Given the description of an element on the screen output the (x, y) to click on. 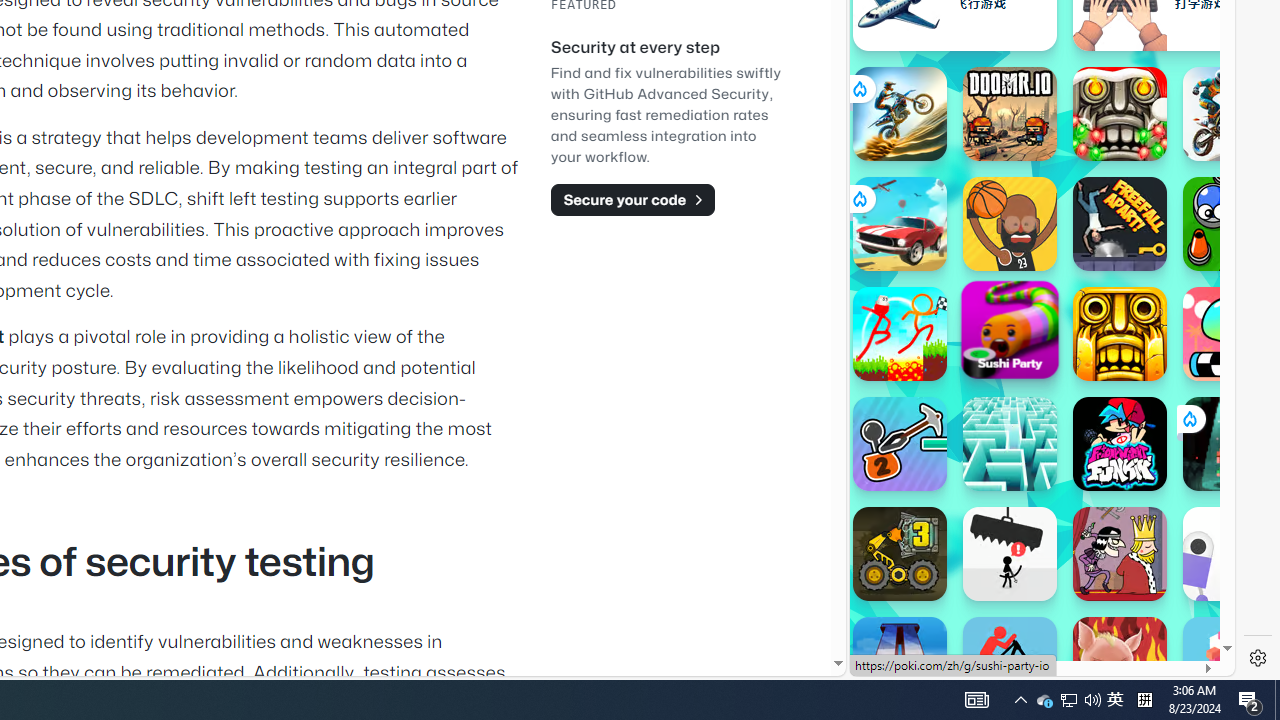
Big Tower Tiny Square 2 Big Tower Tiny Square 2 (899, 664)
Odd Bot Out Odd Bot Out (1229, 553)
Blumgi Slime (1229, 333)
Maze: Path of Light Maze: Path of Light (1009, 443)
Freefall Apart (1119, 223)
Poki (1034, 606)
Trial Mania Trial Mania (1229, 113)
Stickman Parkour 3 (899, 333)
Combat Reloaded (1092, 200)
Stunt Paradise (899, 223)
Stunt Bike Extreme Stunt Bike Extreme (899, 113)
Global web icon (888, 607)
Dunkers 2 Dunkers 2 (1009, 223)
Iron Snout Iron Snout (1119, 664)
Friday Night Funkin' (1119, 443)
